Given the description of an element on the screen output the (x, y) to click on. 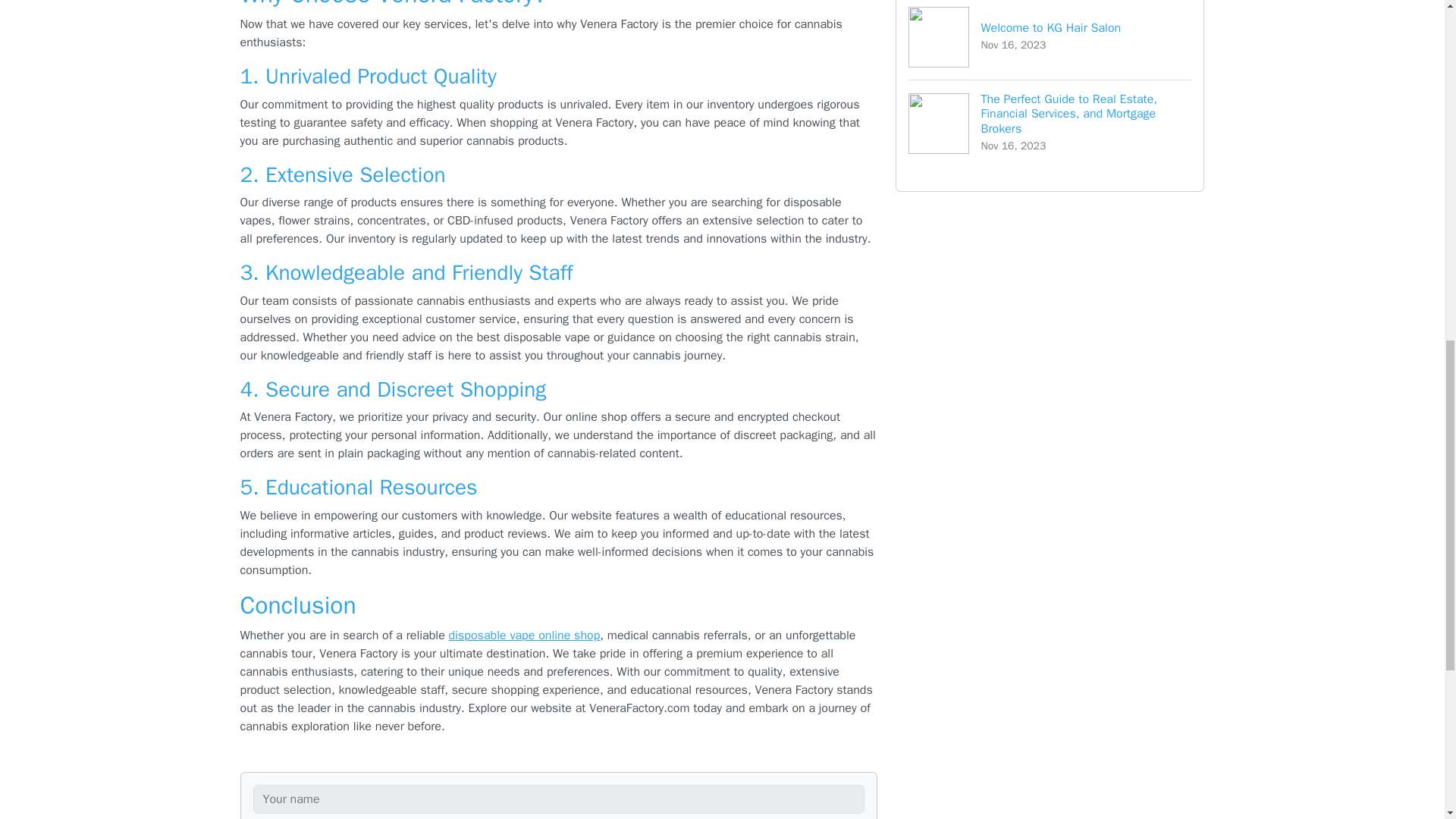
disposable vape online shop (1050, 39)
